Given the description of an element on the screen output the (x, y) to click on. 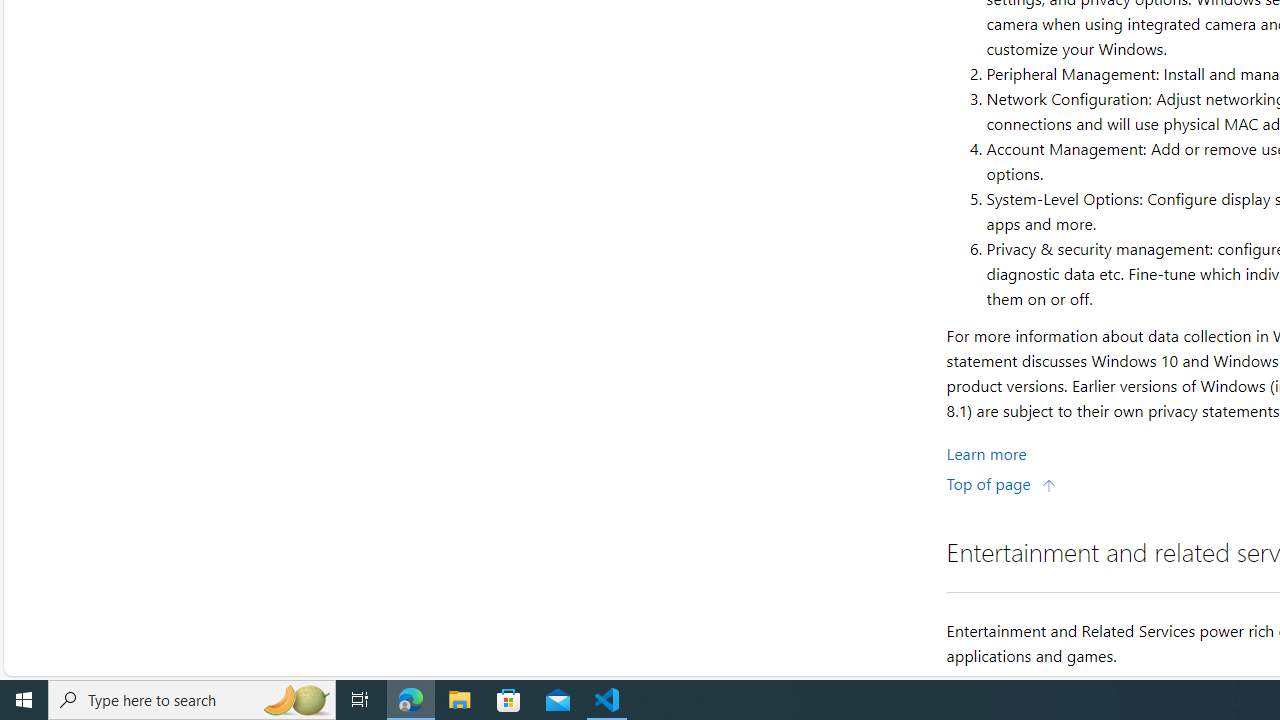
Top of page (1001, 482)
Learn More about Windows (985, 452)
